Given the description of an element on the screen output the (x, y) to click on. 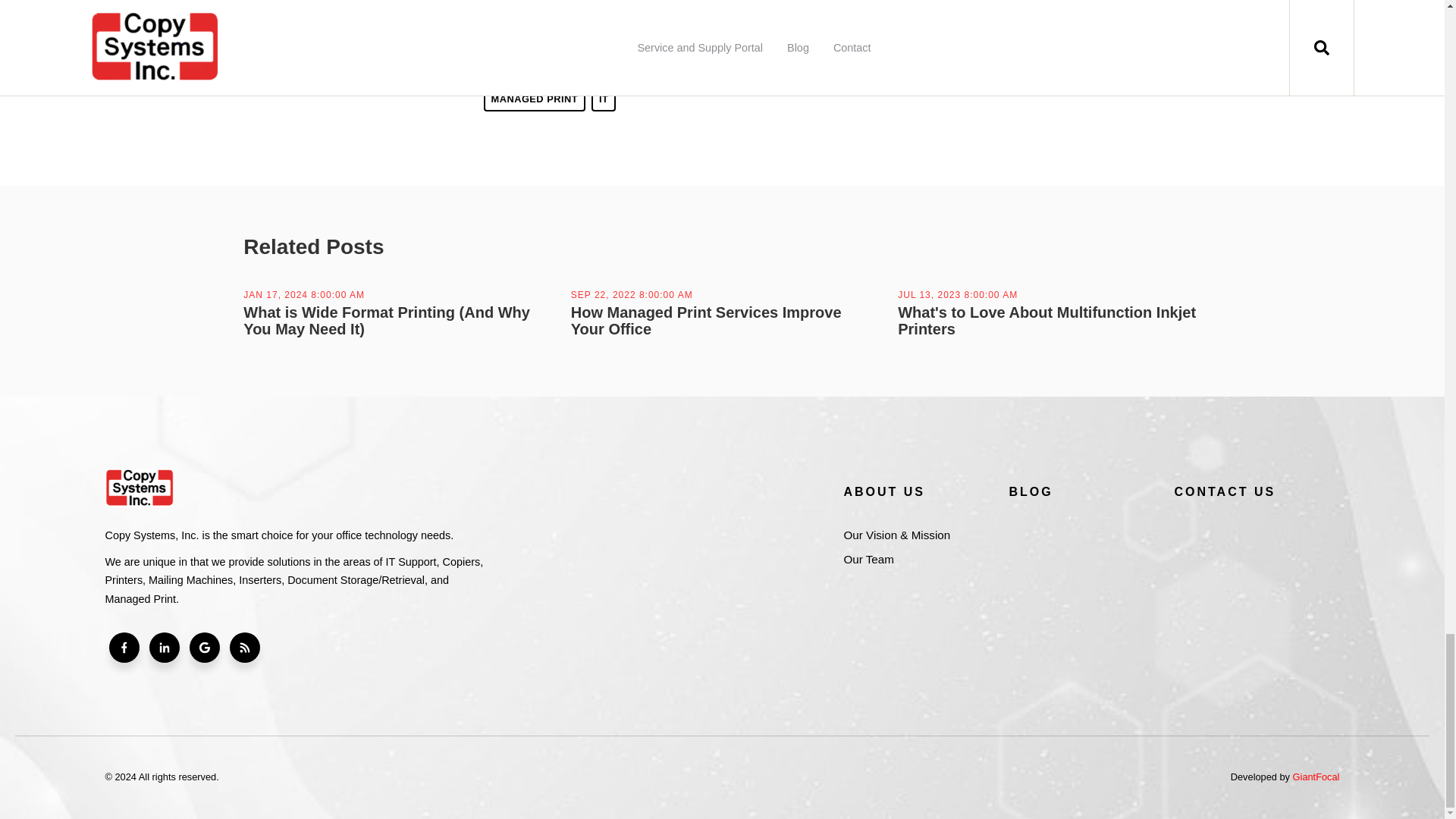
GiantFocal (1315, 776)
CONTACT US (1249, 491)
ABOUT US (919, 491)
MANAGED PRINT (534, 99)
IT (603, 99)
Our Team (919, 559)
BLOG (1085, 491)
